Given the description of an element on the screen output the (x, y) to click on. 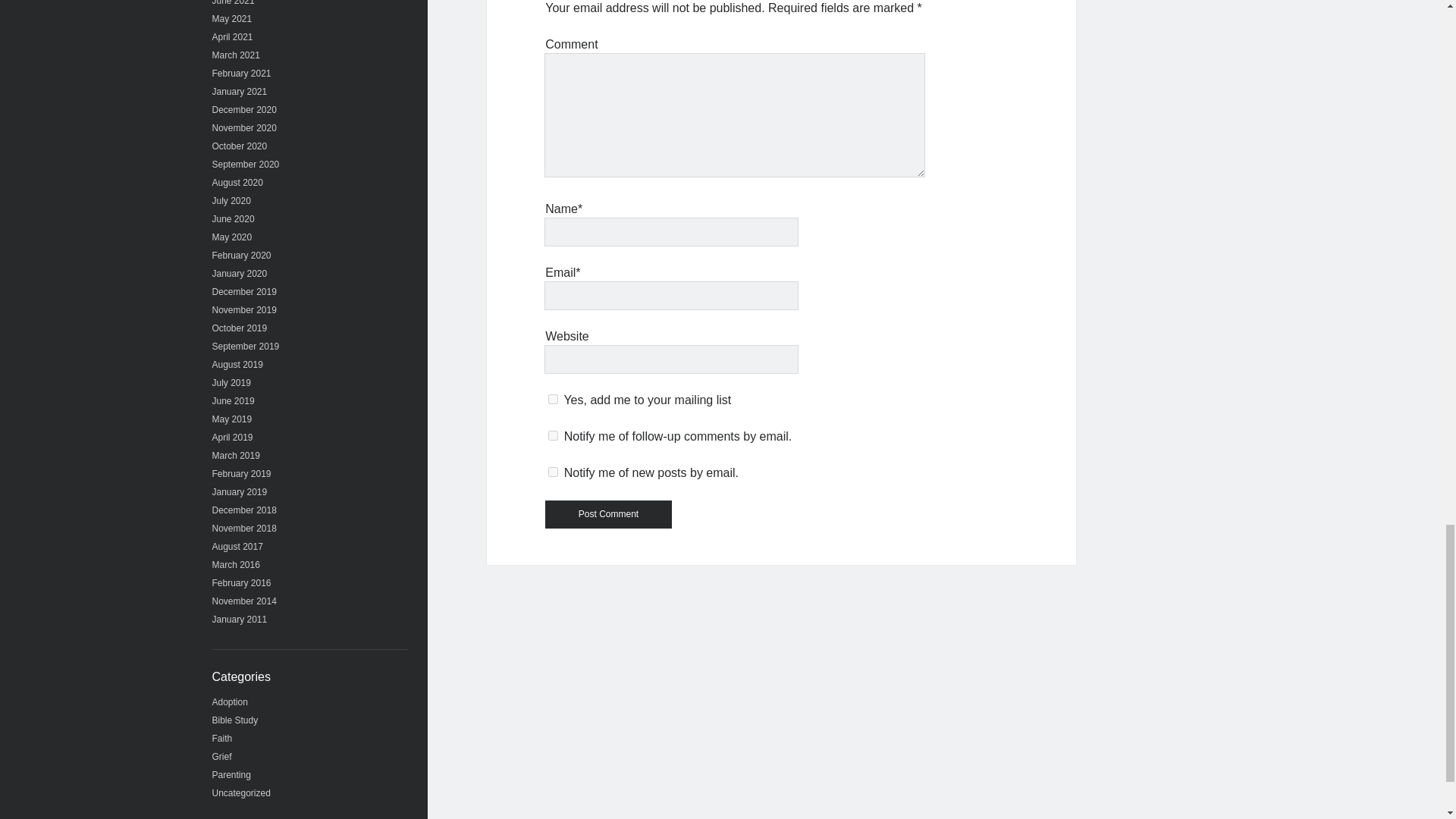
subscribe (552, 435)
1 (552, 398)
Post Comment (607, 514)
subscribe (552, 471)
